Given the description of an element on the screen output the (x, y) to click on. 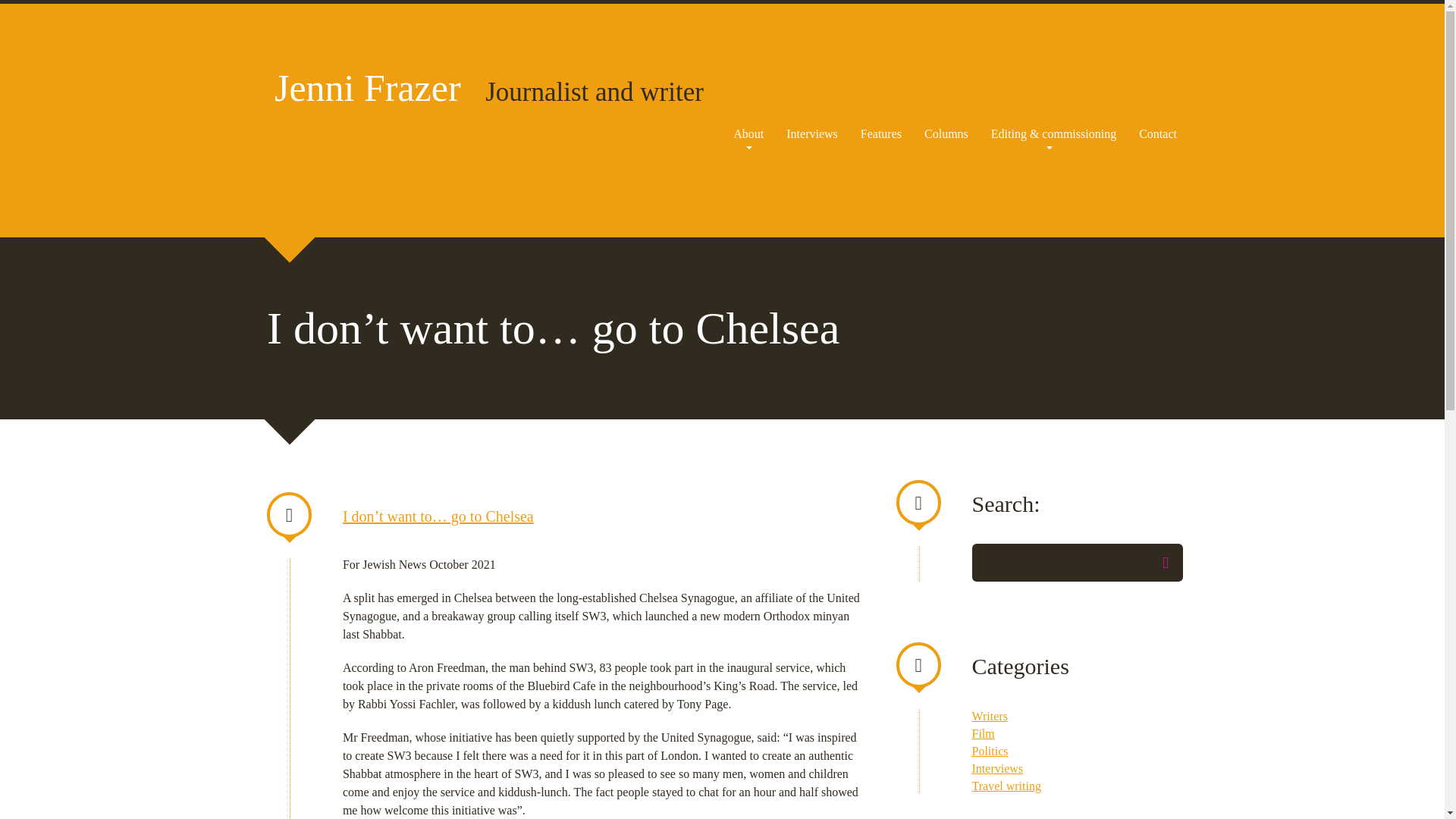
Jenni Frazer Journalist and writer (489, 87)
Columns (946, 134)
Features (880, 134)
Travel writing (1006, 785)
Interviews (811, 134)
Search (1165, 562)
Contact (1158, 134)
Interviews (997, 768)
Politics (990, 750)
Writers (989, 716)
About (748, 134)
Film (983, 733)
